Given the description of an element on the screen output the (x, y) to click on. 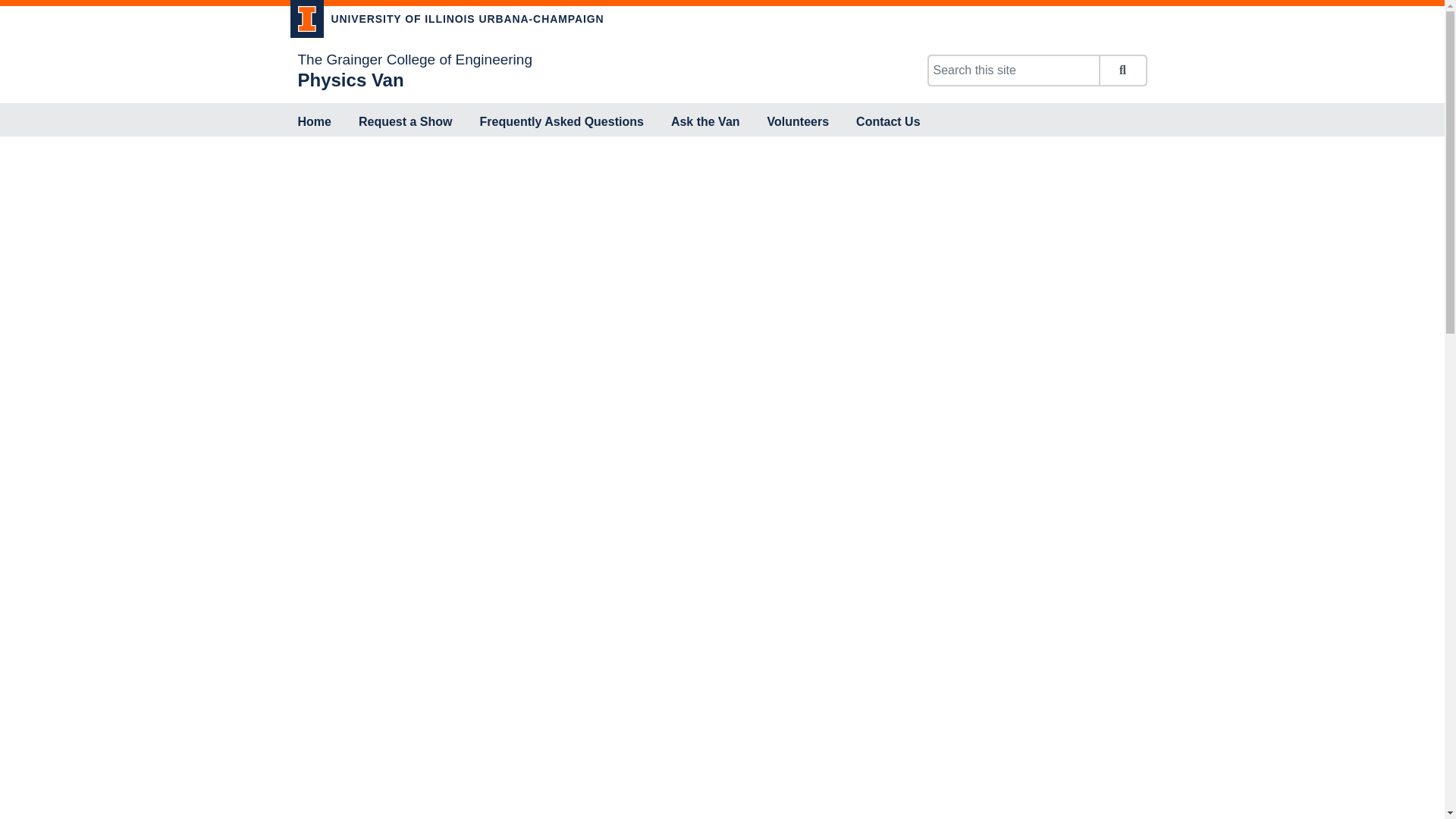
Ask the Van (705, 122)
The Grainger College of Engineering (414, 59)
Request a Show (405, 122)
Frequently Asked Questions (560, 122)
Contact Us (887, 122)
Search (1121, 70)
UNIVERSITY OF ILLINOIS URBANA-CHAMPAIGN (446, 21)
Physics Van (350, 79)
Volunteers (798, 122)
Home (313, 122)
